Given the description of an element on the screen output the (x, y) to click on. 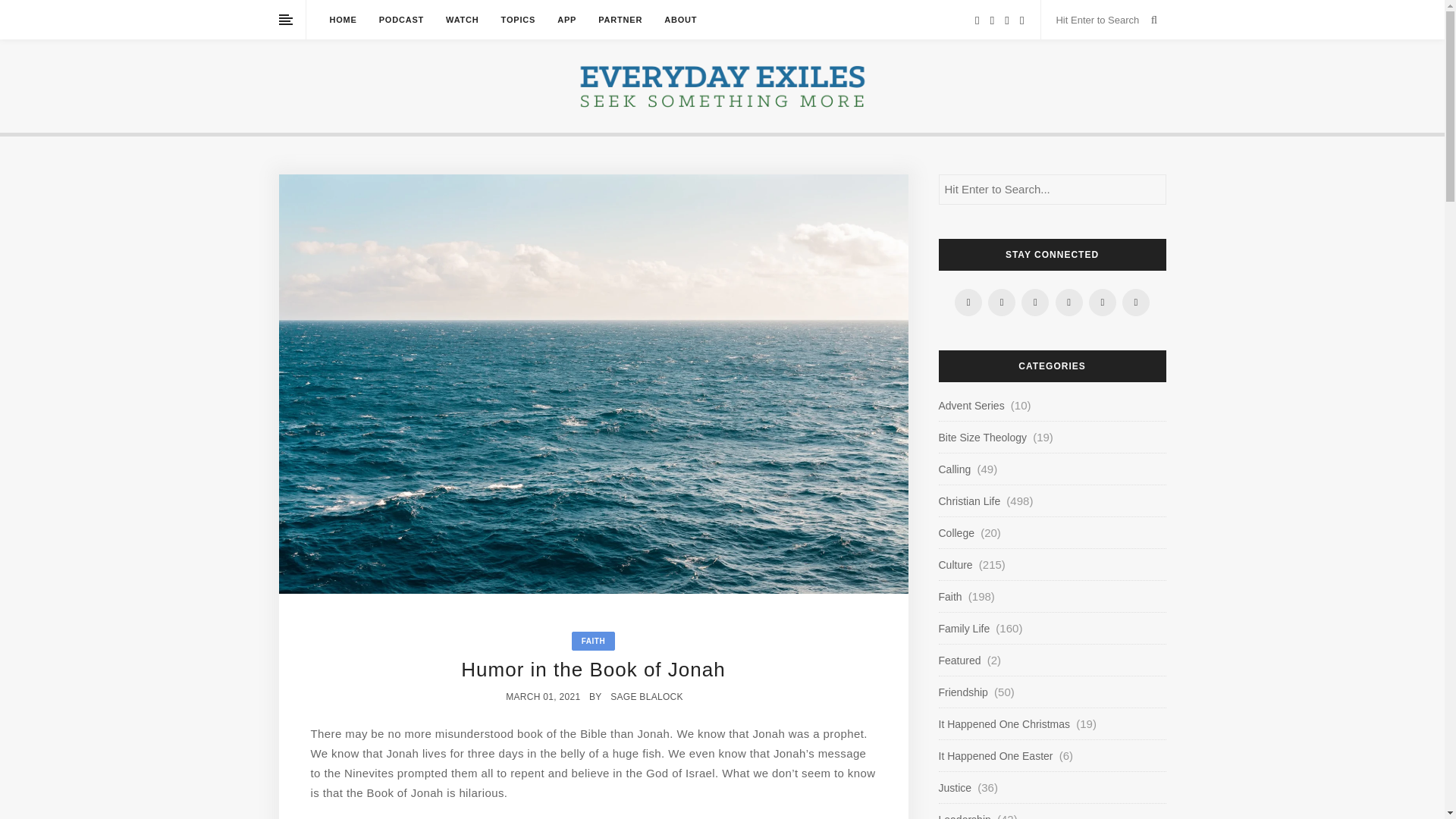
Hit Enter to Search (1099, 20)
HOME (342, 19)
TOPICS (517, 19)
APP (566, 19)
PODCAST (400, 19)
WATCH (462, 19)
Hit Enter to Search (1099, 20)
PARTNER (620, 19)
